Given the description of an element on the screen output the (x, y) to click on. 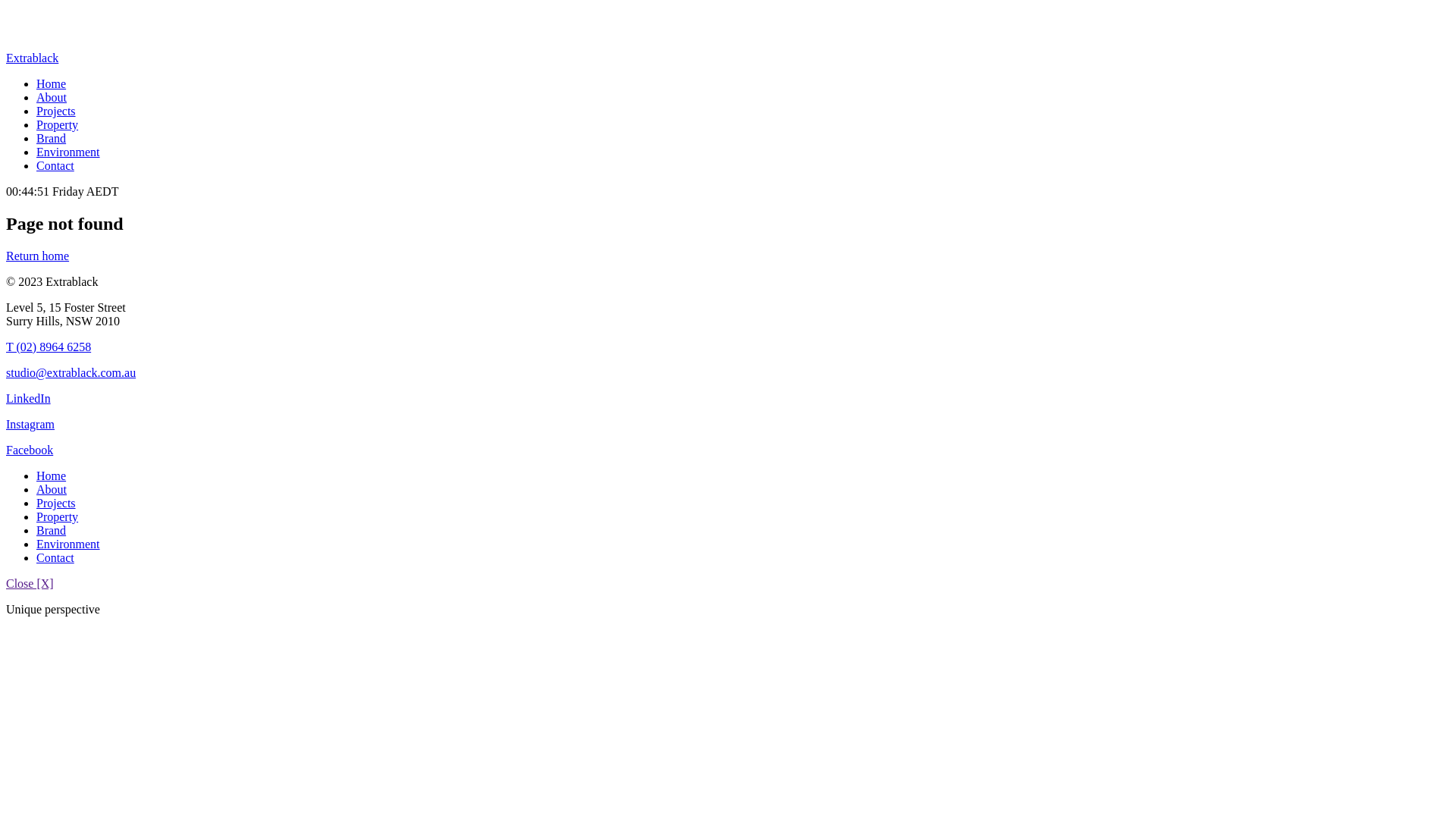
Projects Element type: text (55, 502)
Extrablack Element type: text (32, 57)
About Element type: text (51, 97)
studio@extrablack.com.au Element type: text (70, 372)
Property Element type: text (57, 516)
Facebook Element type: text (29, 449)
Contact Element type: text (55, 557)
Projects Element type: text (55, 110)
Home Element type: text (50, 83)
About Element type: text (51, 489)
Close [X] Element type: text (29, 583)
Contact Element type: text (55, 165)
Environment Element type: text (68, 543)
Brand Element type: text (50, 530)
Property Element type: text (57, 124)
Instagram Element type: text (30, 423)
Brand Element type: text (50, 137)
Environment Element type: text (68, 151)
T (02) 8964 6258 Element type: text (48, 346)
Home Element type: text (50, 475)
LinkedIn Element type: text (28, 398)
Return home Element type: text (37, 255)
